Given the description of an element on the screen output the (x, y) to click on. 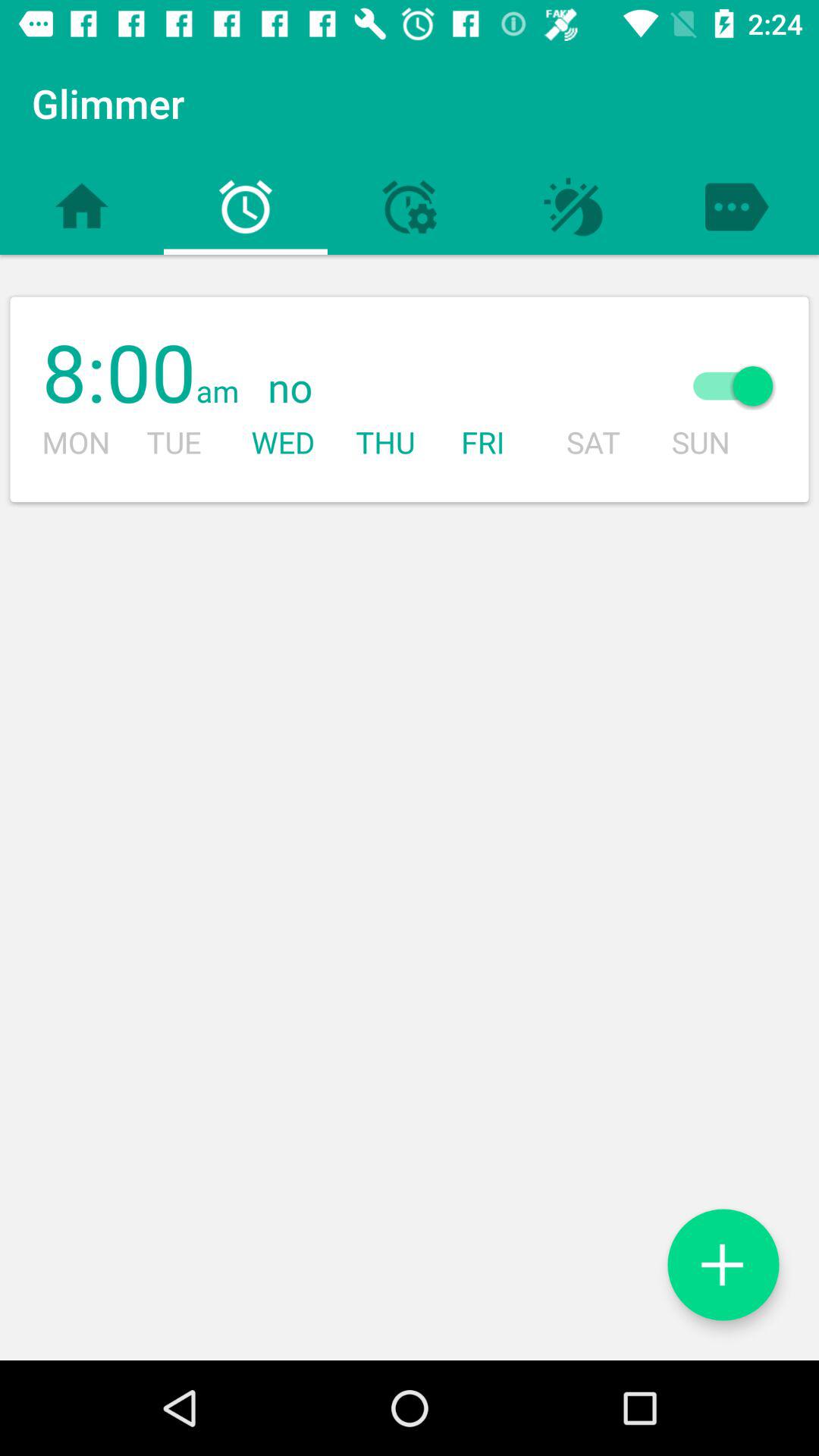
choose no (443, 388)
